Given the description of an element on the screen output the (x, y) to click on. 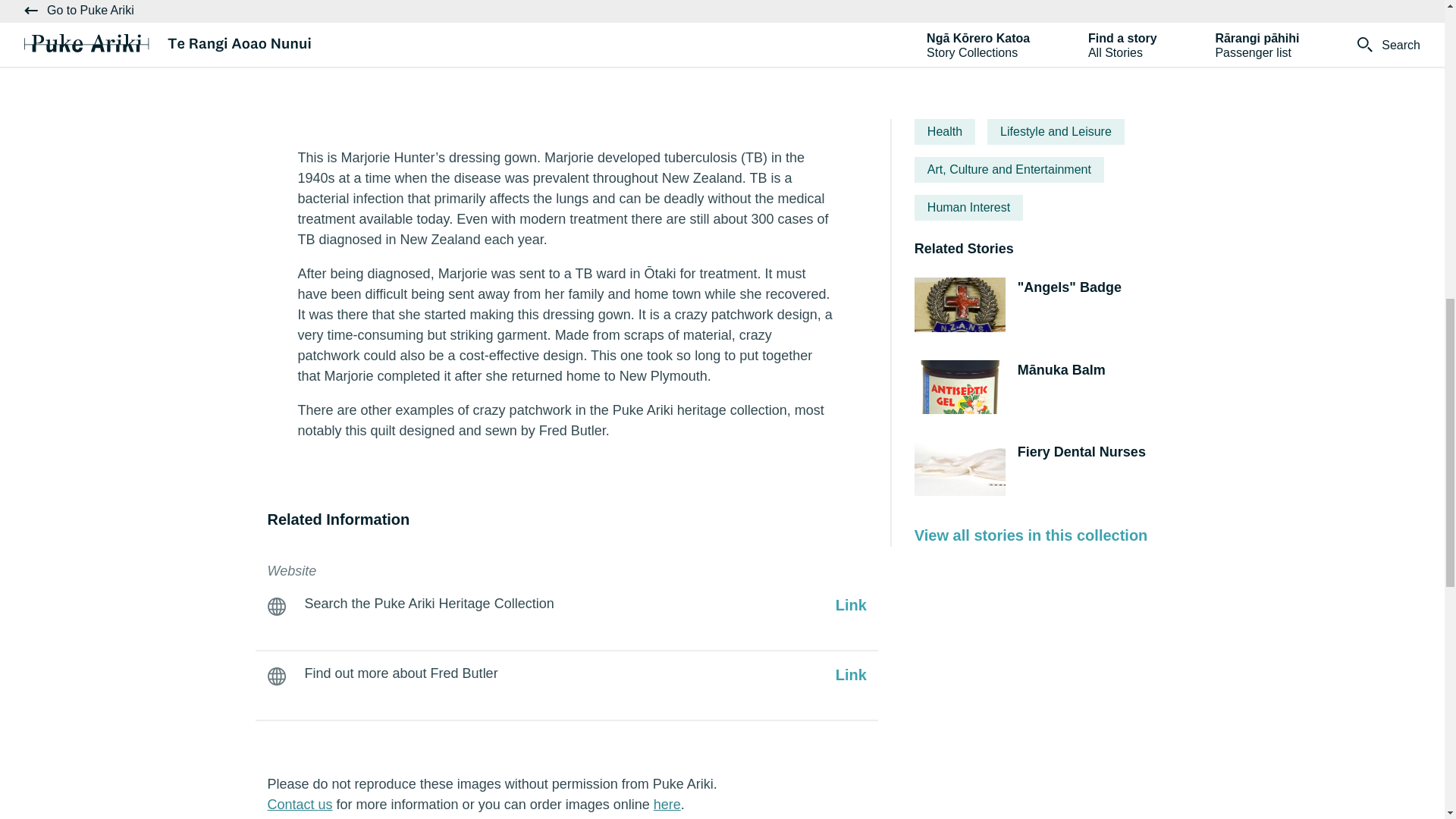
Health (944, 131)
Lifestyle and Leisure (1055, 131)
Human Interest (968, 207)
Link (850, 604)
View all stories in this collection (1031, 535)
Fiery Dental Nurses (1033, 471)
Art, Culture and Entertainment (1008, 169)
"Angels" Badge (1033, 306)
Contact us (298, 804)
here (667, 804)
